Given the description of an element on the screen output the (x, y) to click on. 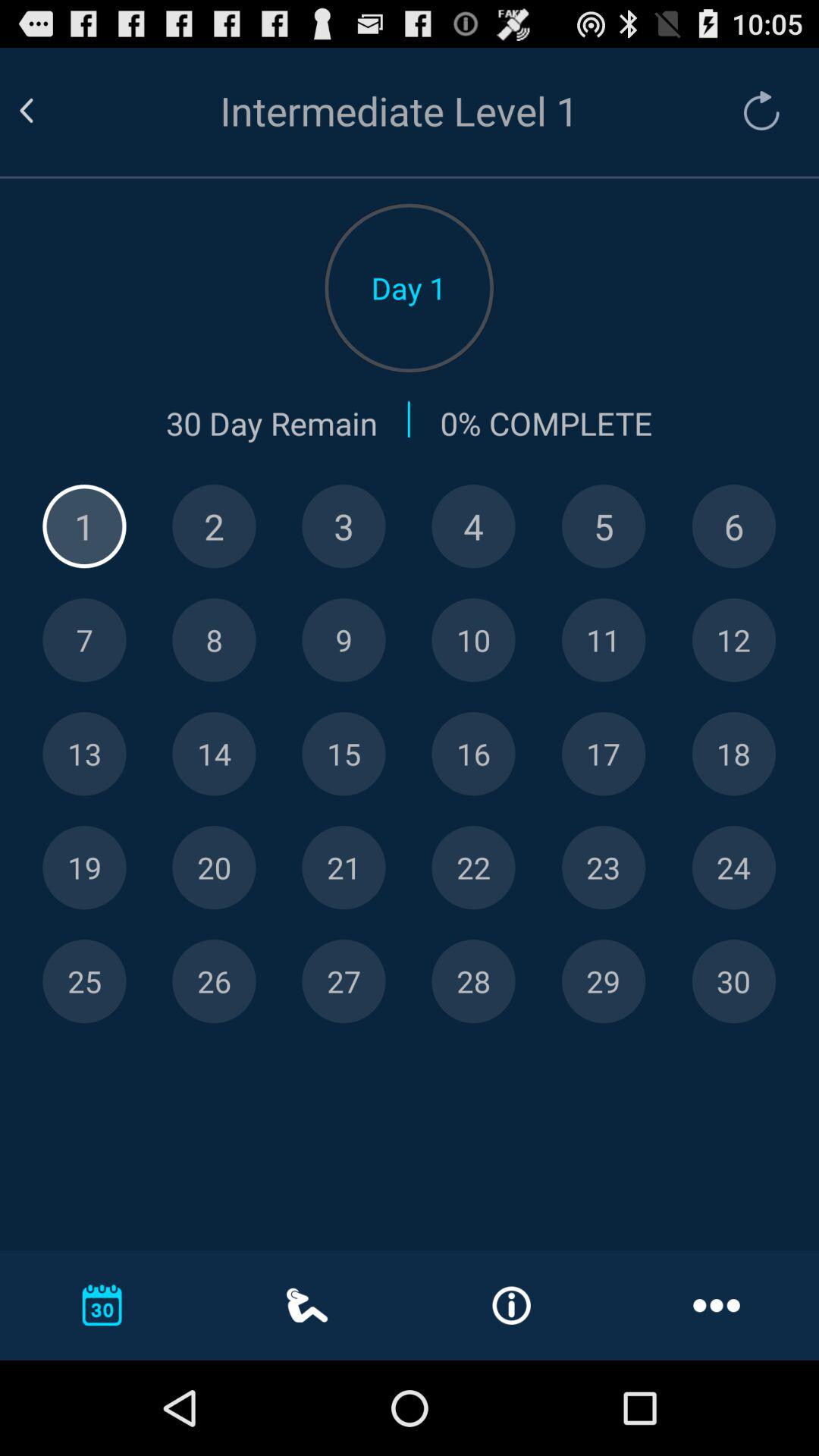
go to day 13 (84, 753)
